Given the description of an element on the screen output the (x, y) to click on. 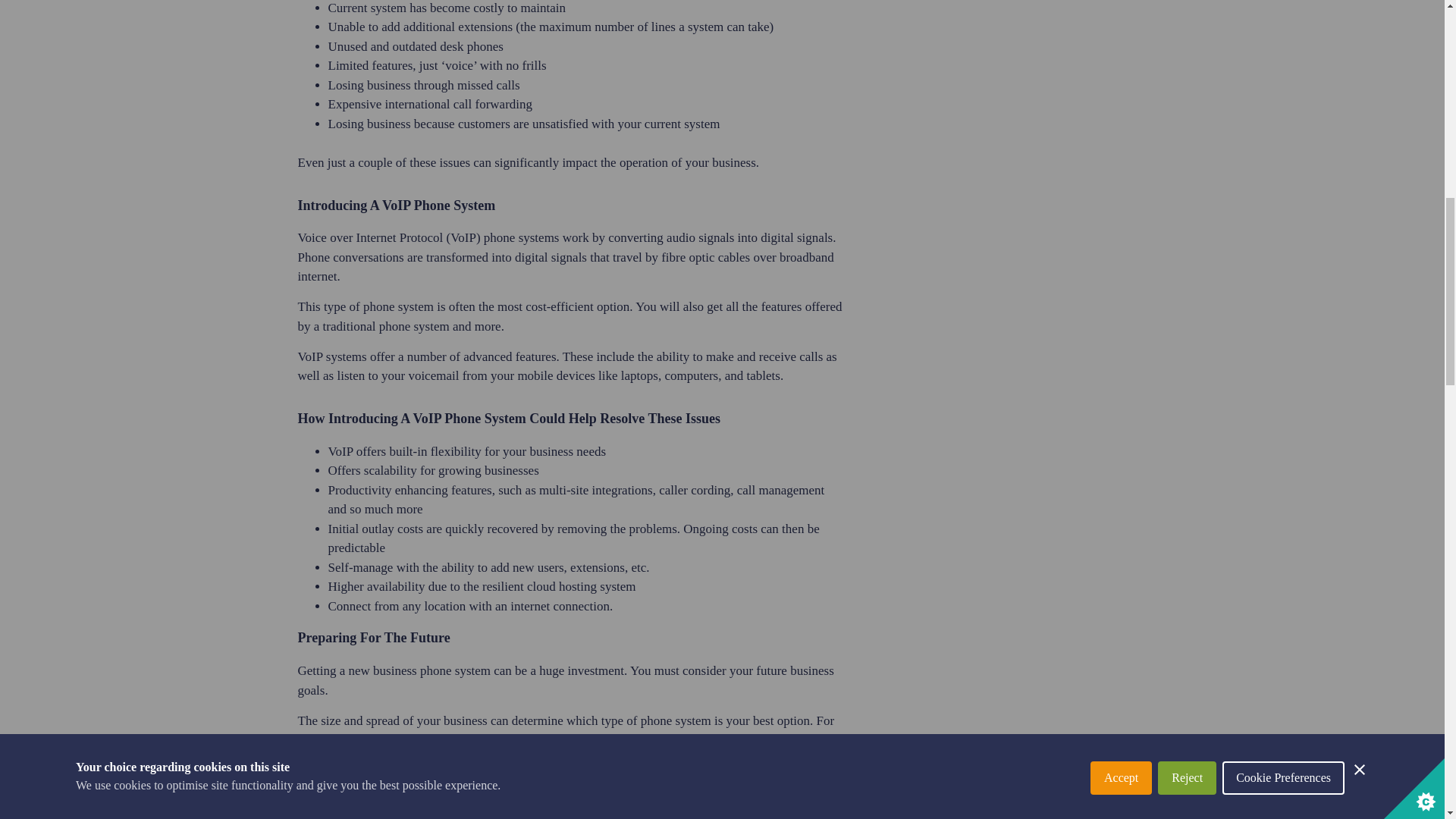
Reject (1186, 17)
Accept (1120, 24)
Cookie Preferences (1283, 12)
